Given the description of an element on the screen output the (x, y) to click on. 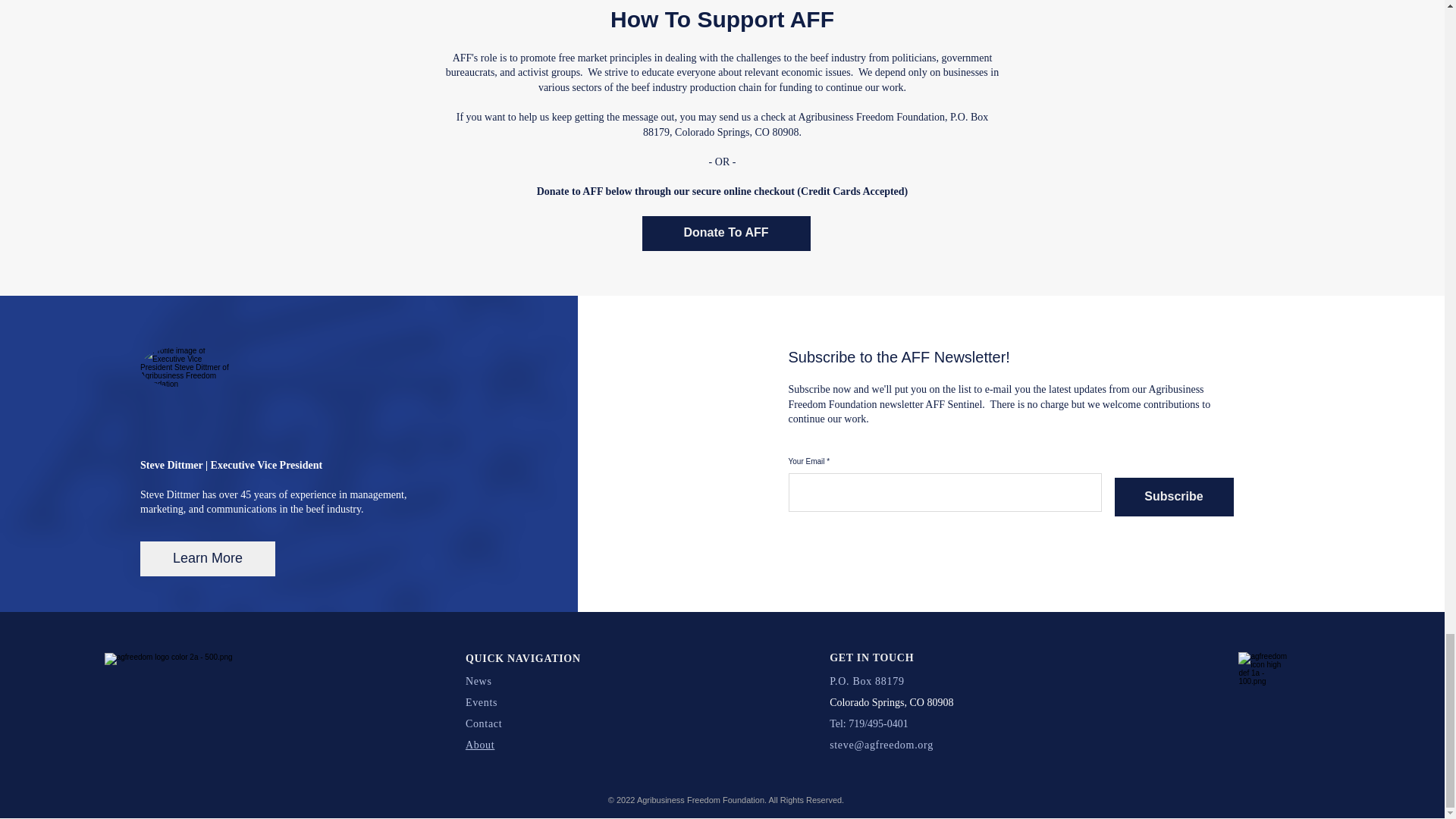
About (480, 745)
Learn More (207, 558)
Events (481, 702)
Donate To AFF (725, 233)
Contact (483, 723)
News (478, 681)
Subscribe (1174, 496)
